Given the description of an element on the screen output the (x, y) to click on. 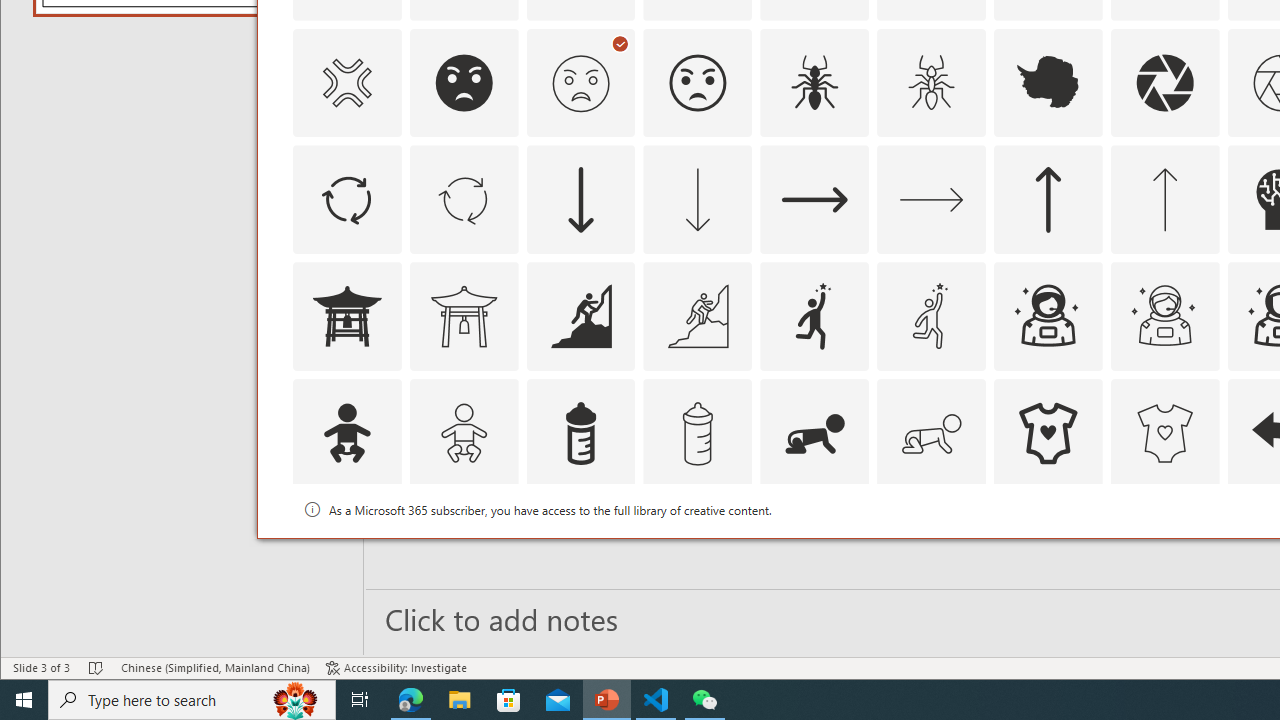
AutomationID: Icons_Badge4 (931, 550)
AutomationID: Icons_Aspiration1_M (931, 316)
AutomationID: Icons_AngryFace_M (580, 82)
AutomationID: Icons_Badge4_M (1048, 550)
AutomationID: Icons_Badge2 (463, 550)
AutomationID: Icons_Badge3 (697, 550)
AutomationID: Icons_AngryFace_Outline (697, 82)
AutomationID: Icons_AstronautFemale (1048, 316)
